Given the description of an element on the screen output the (x, y) to click on. 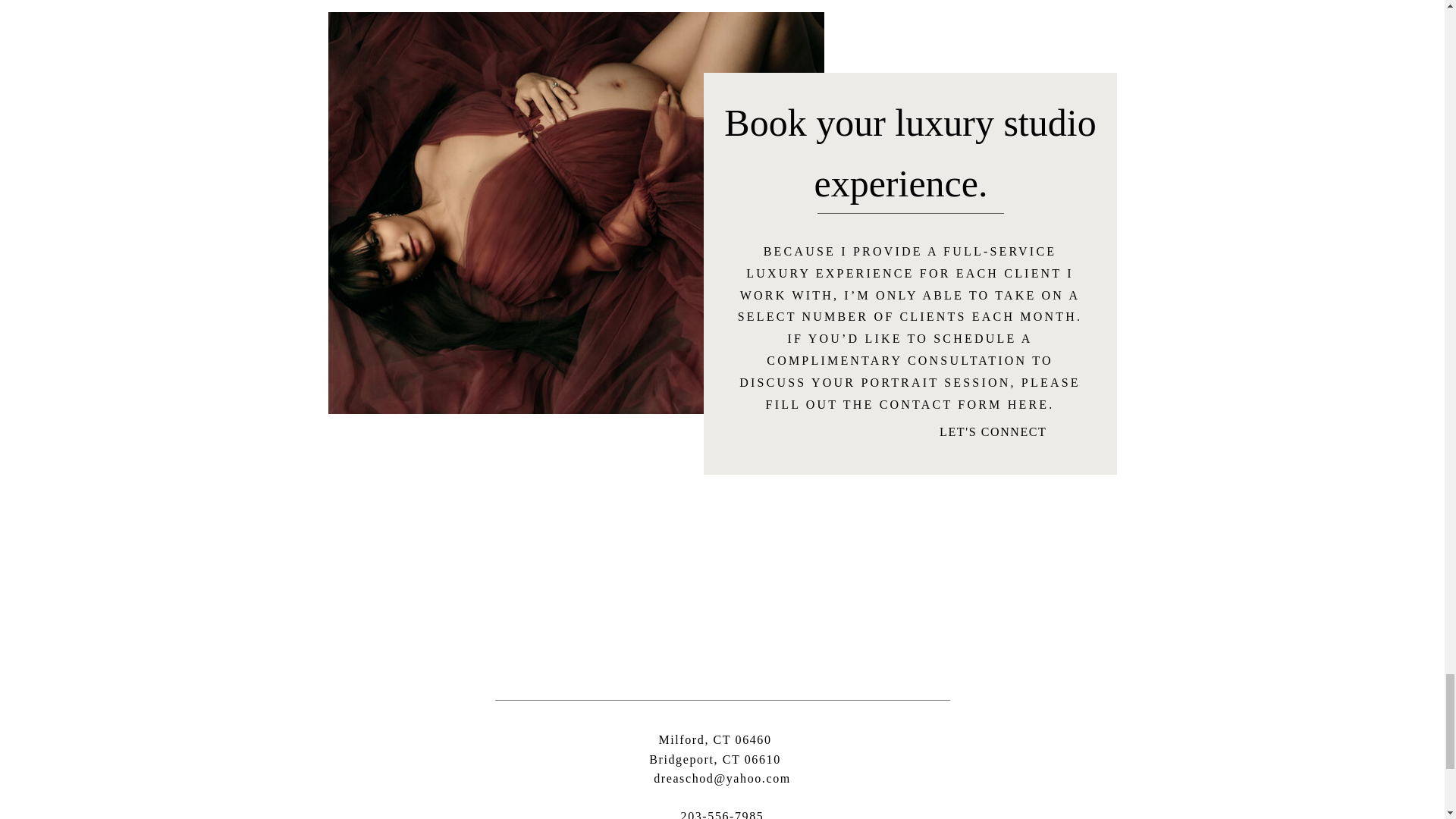
203-556-7985 (721, 812)
LET'S CONNECT (715, 751)
